Given the description of an element on the screen output the (x, y) to click on. 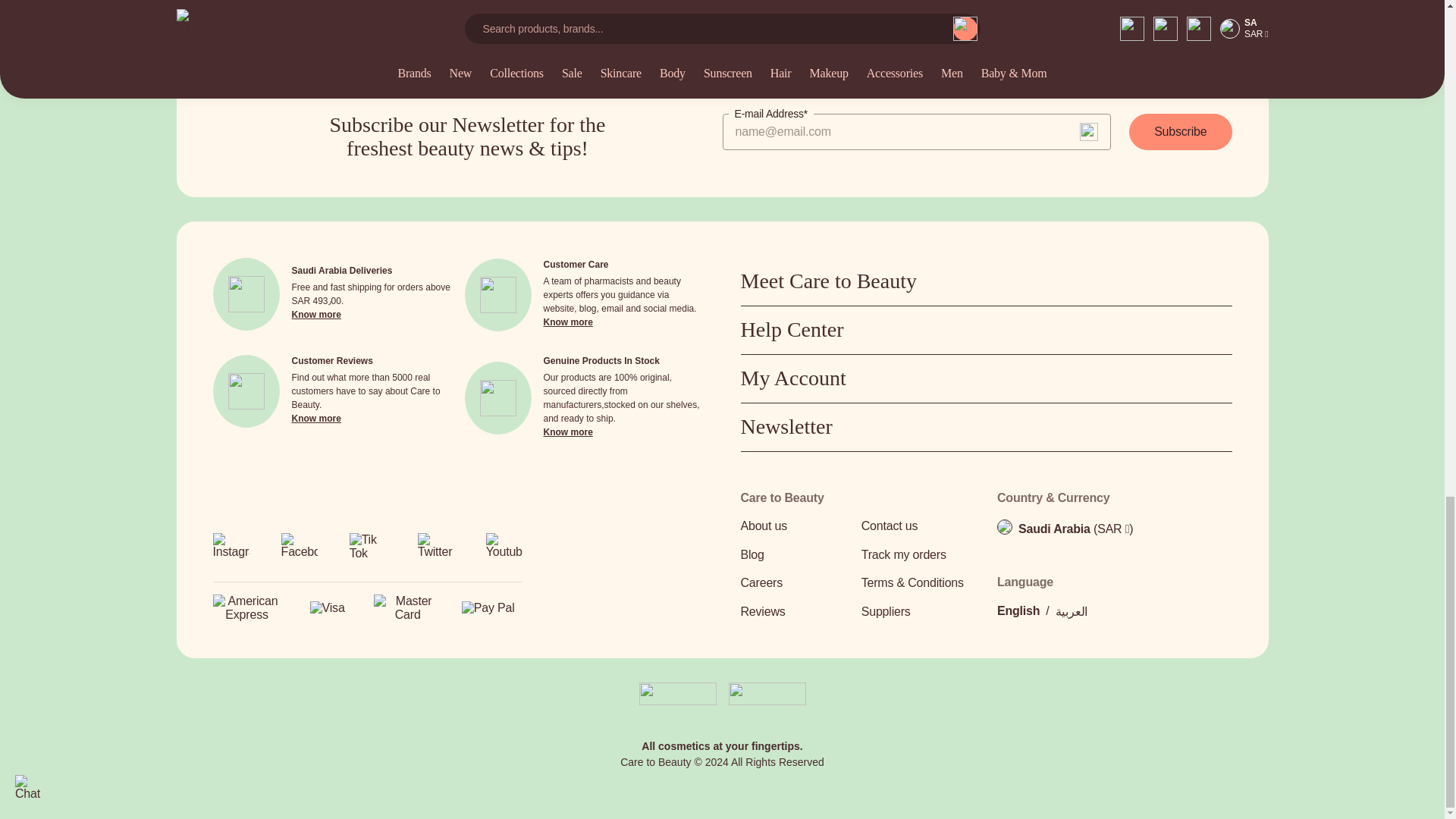
Contact us (916, 526)
Reviews (795, 611)
Track my orders (916, 555)
Careers (795, 582)
Instagram (230, 551)
Newsletter (985, 427)
Meet Care to Beauty (985, 281)
Blog (795, 555)
Facebook (299, 551)
Facebook (299, 545)
